Given the description of an element on the screen output the (x, y) to click on. 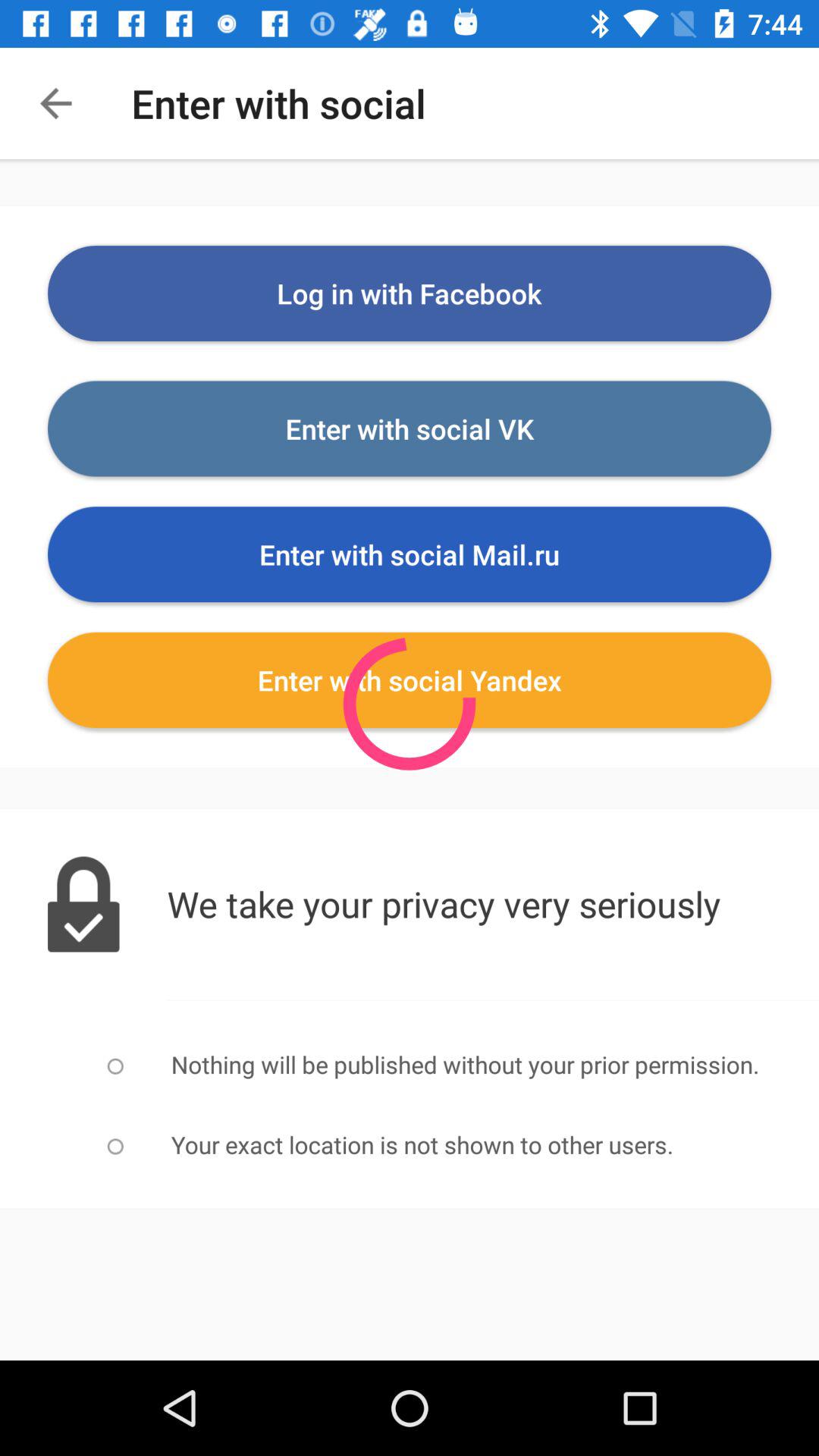
turn off the icon to the left of the enter with social (55, 103)
